Given the description of an element on the screen output the (x, y) to click on. 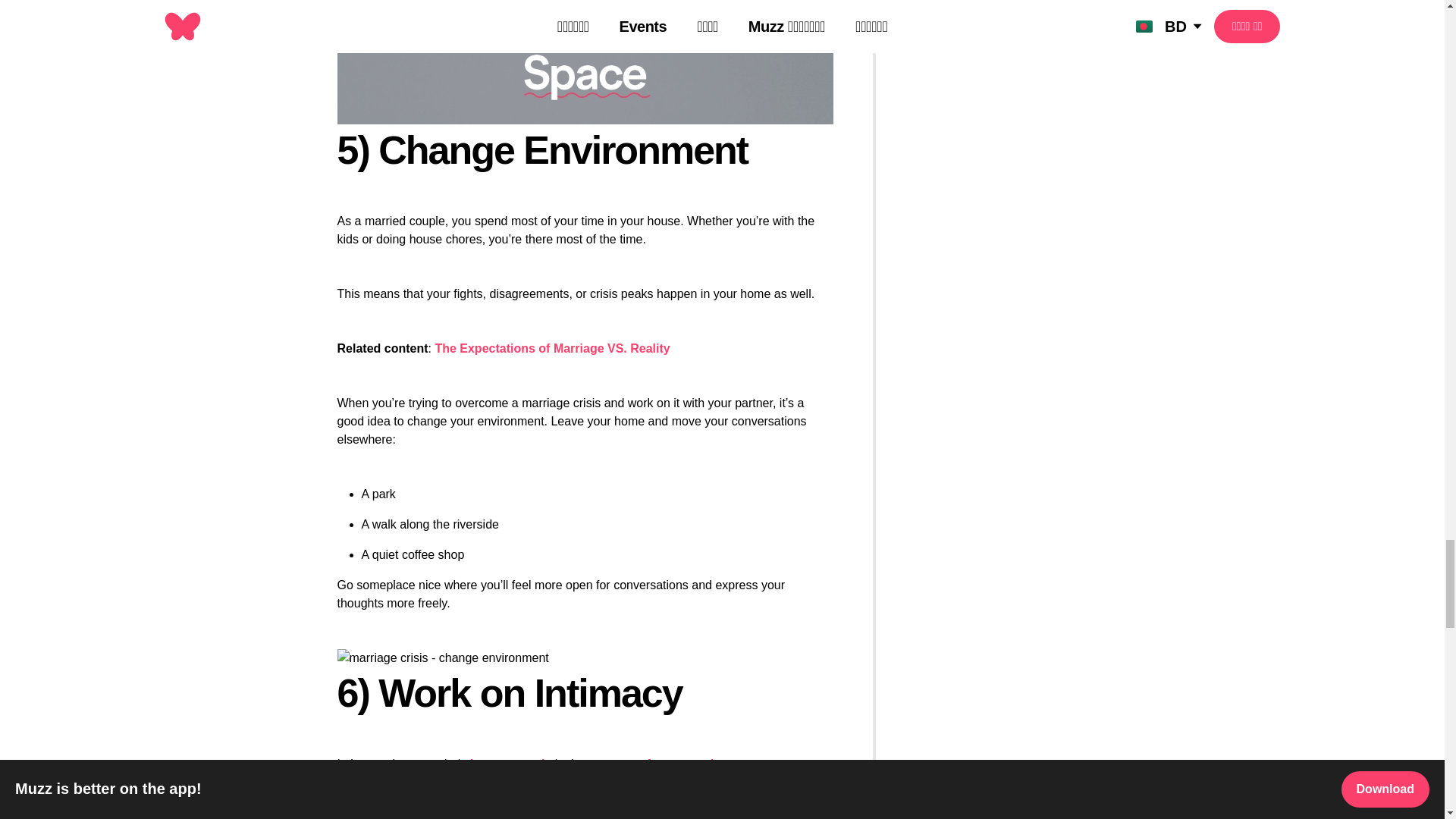
success of your marriage (661, 763)
important role (510, 763)
The Expectations of Marriage VS. Reality (551, 348)
